Given the description of an element on the screen output the (x, y) to click on. 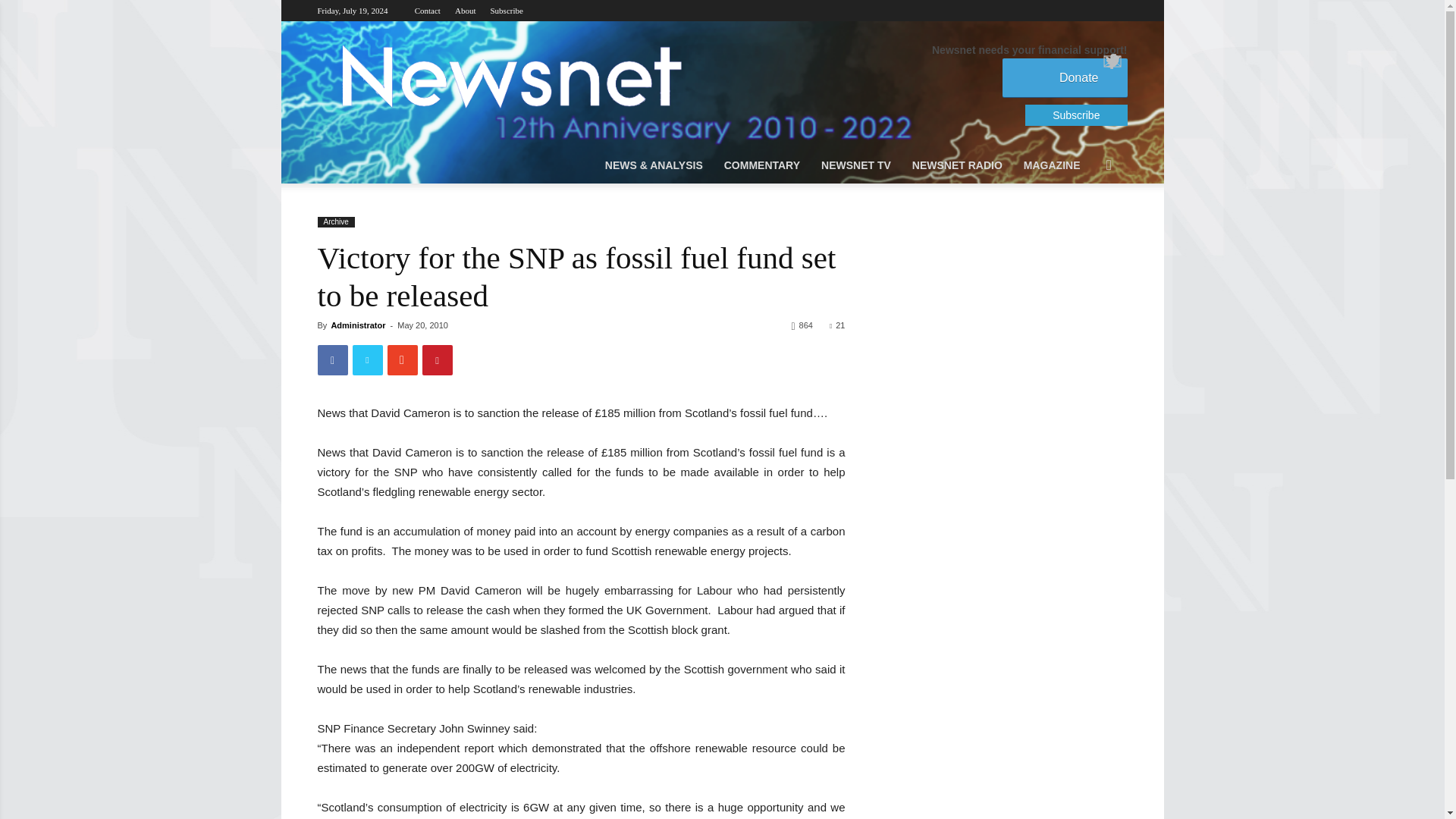
Search (1086, 225)
NEWSNET RADIO (957, 165)
NEWSNET TV (855, 165)
COMMENTARY (761, 165)
MAGAZINE (1051, 165)
Contact (427, 10)
Administrator (357, 325)
Donate (1064, 77)
Subscribe (505, 10)
NEWSNET.scot (509, 76)
Archive (335, 222)
21 (837, 325)
About (465, 10)
